Given the description of an element on the screen output the (x, y) to click on. 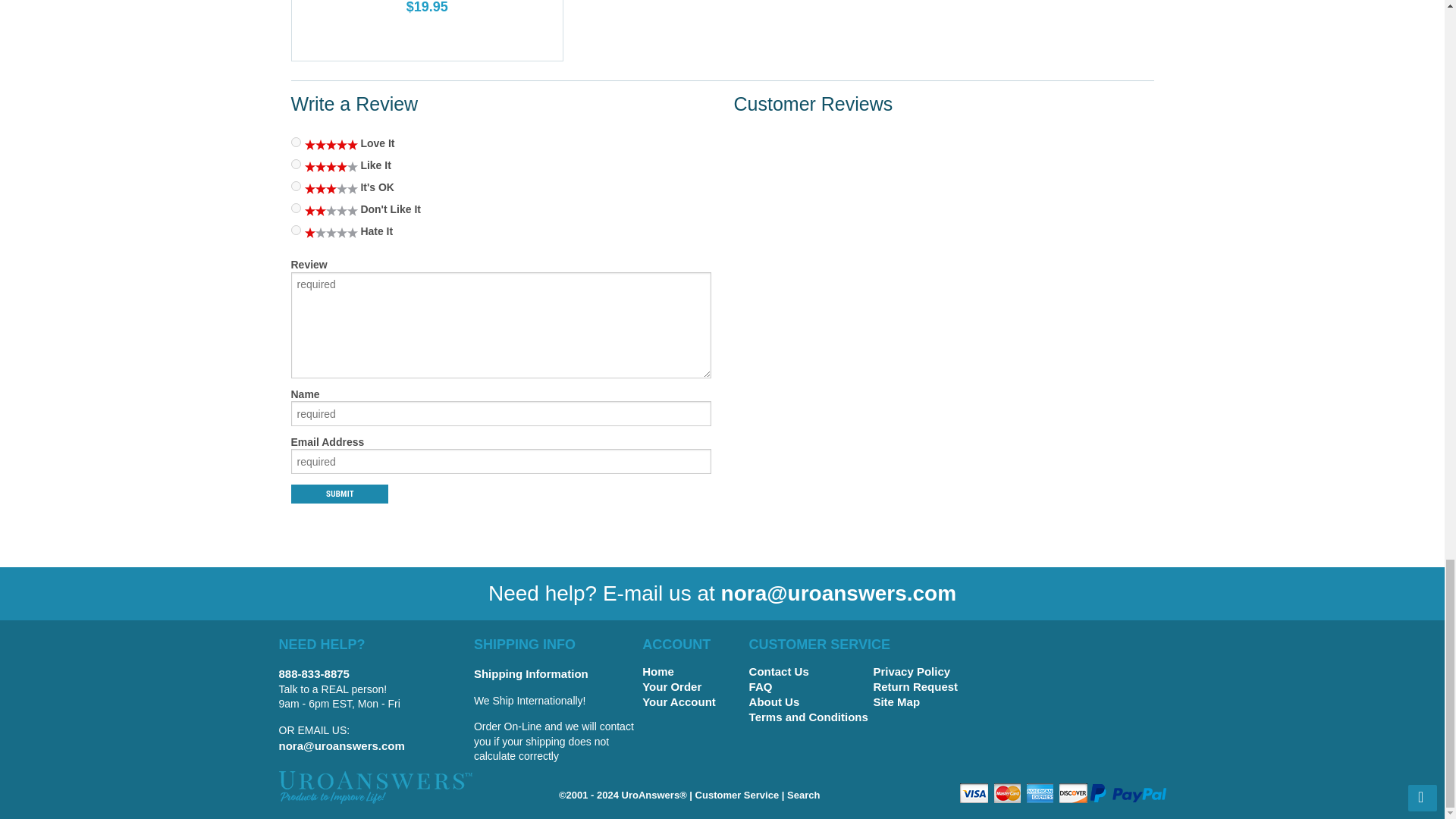
3 (296, 185)
1 (296, 230)
5 (296, 142)
888-833-8875 (314, 673)
2 (296, 207)
4 (296, 163)
